Given the description of an element on the screen output the (x, y) to click on. 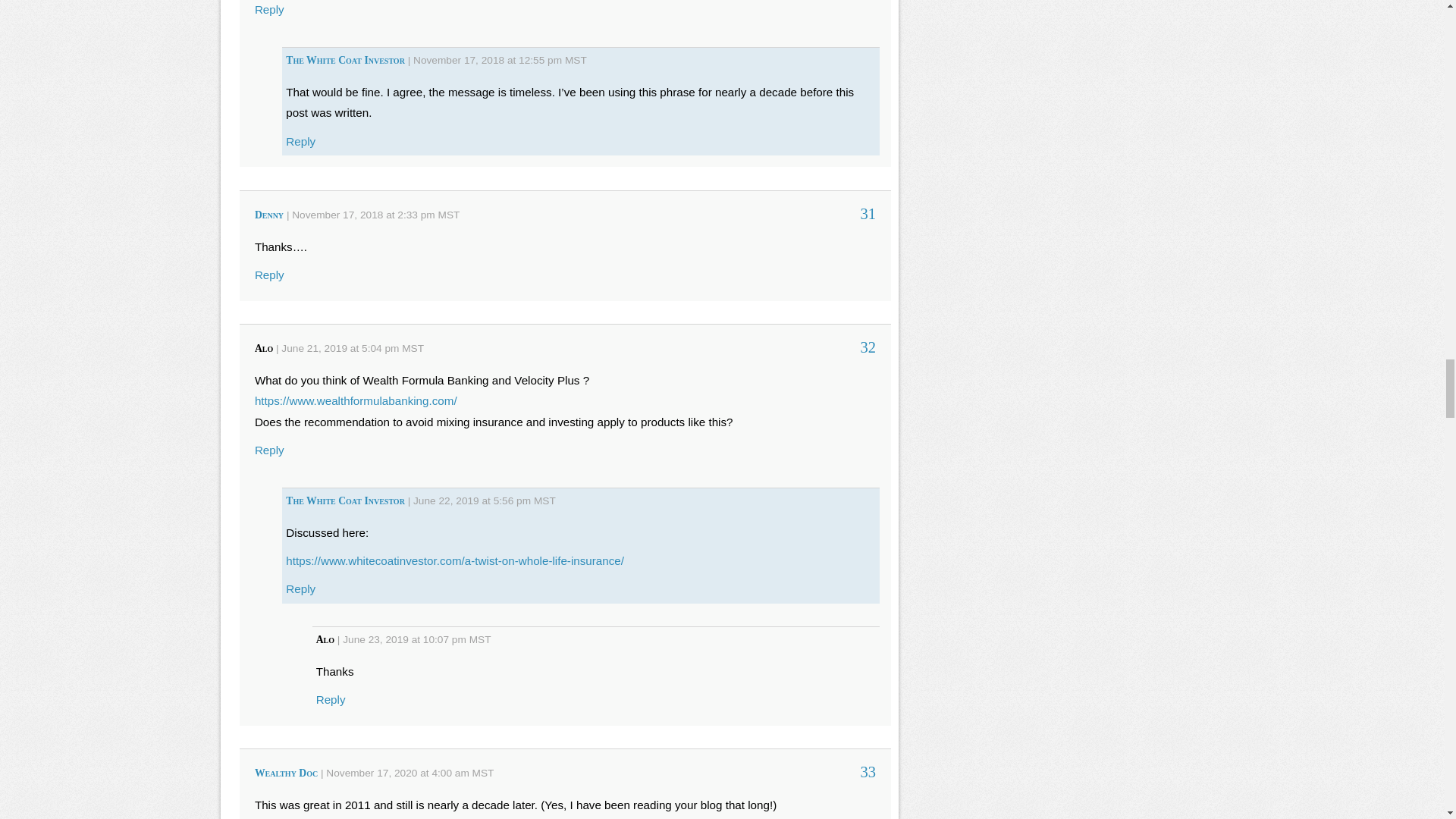
Mountain Standard Time (545, 500)
Mountain Standard Time (412, 348)
Mountain Standard Time (575, 60)
Mountain Standard Time (480, 639)
Mountain Standard Time (449, 214)
